Given the description of an element on the screen output the (x, y) to click on. 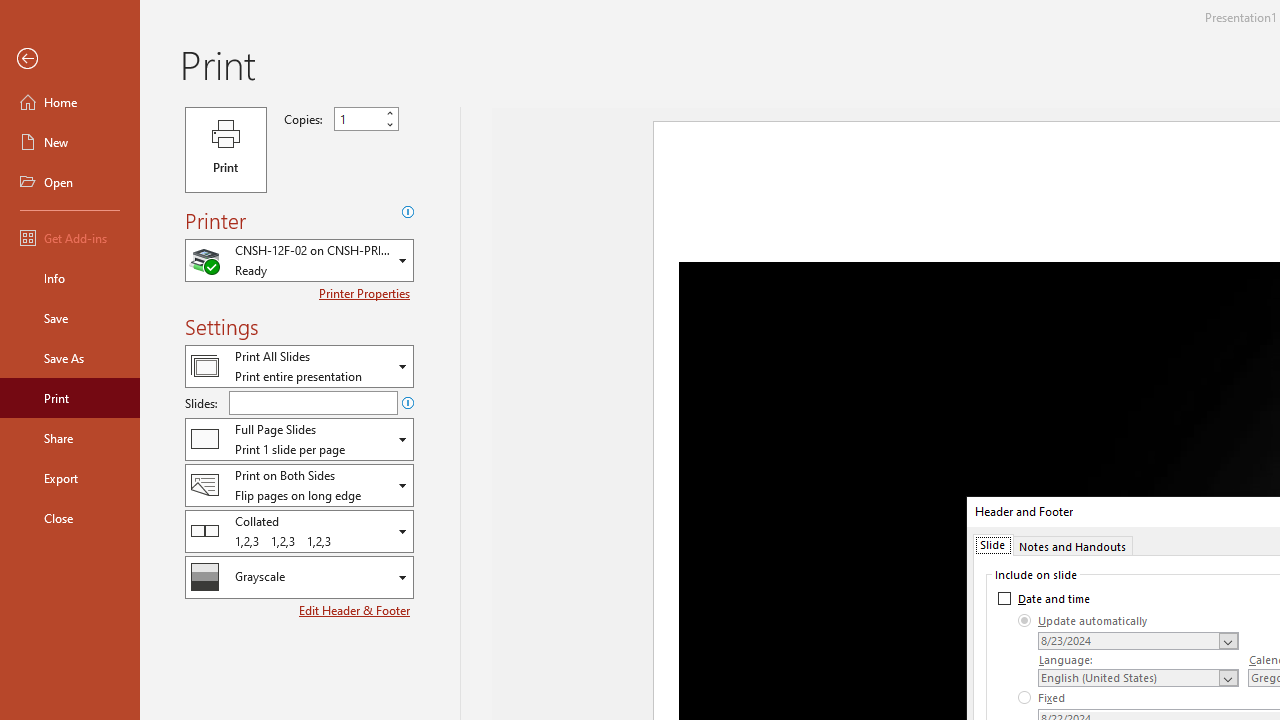
Slides and Handouts (299, 439)
Print (226, 149)
Two-Sided Printing (299, 484)
Back (69, 59)
Which Printer (299, 260)
Date and time (1044, 598)
Fixed (1042, 697)
Format Date and Time (1138, 641)
Notes and Handouts (1072, 544)
Slides (313, 402)
Copies (366, 119)
Print (69, 398)
